Given the description of an element on the screen output the (x, y) to click on. 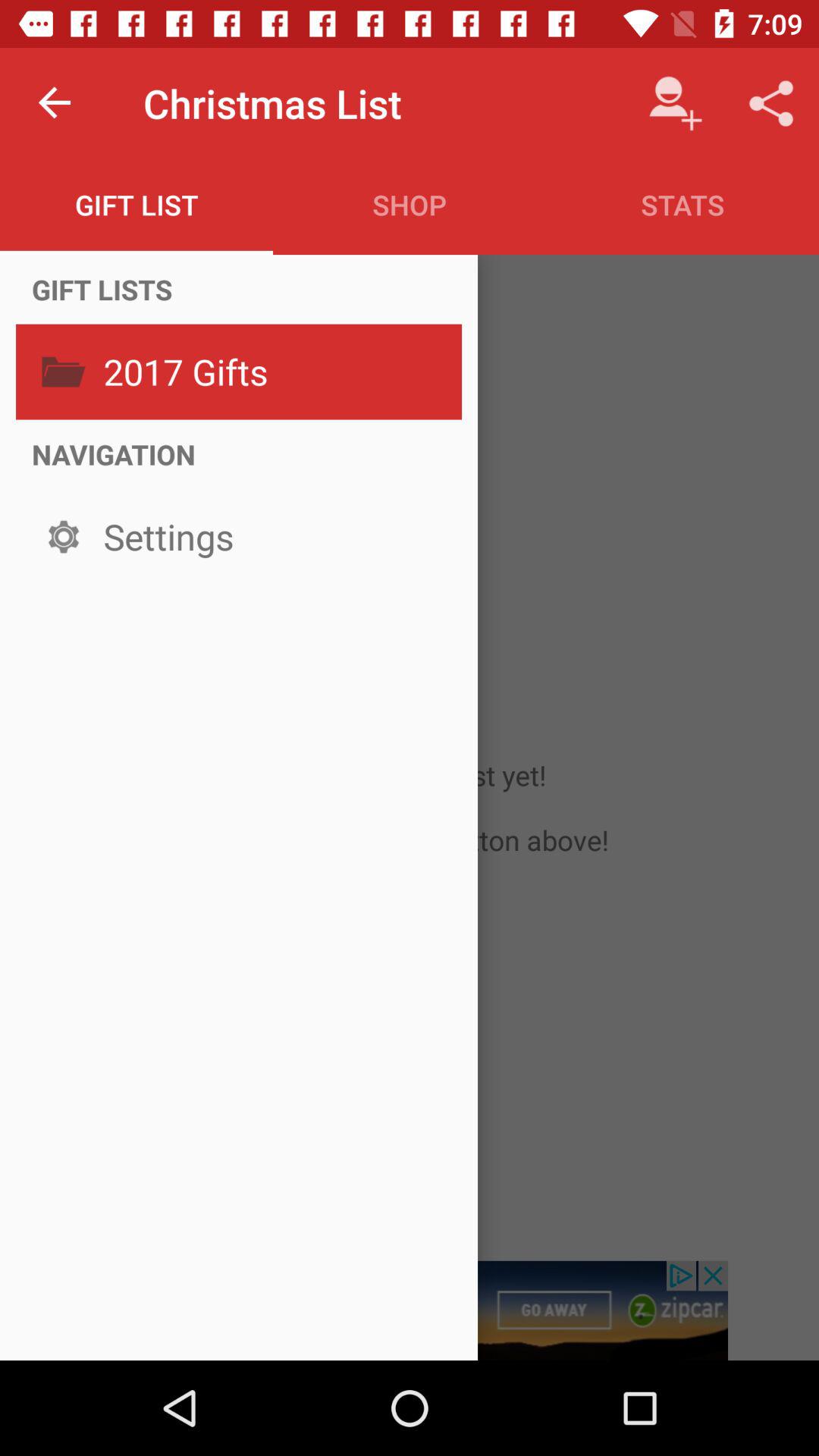
tap the item to the right of the shop icon (682, 204)
